Given the description of an element on the screen output the (x, y) to click on. 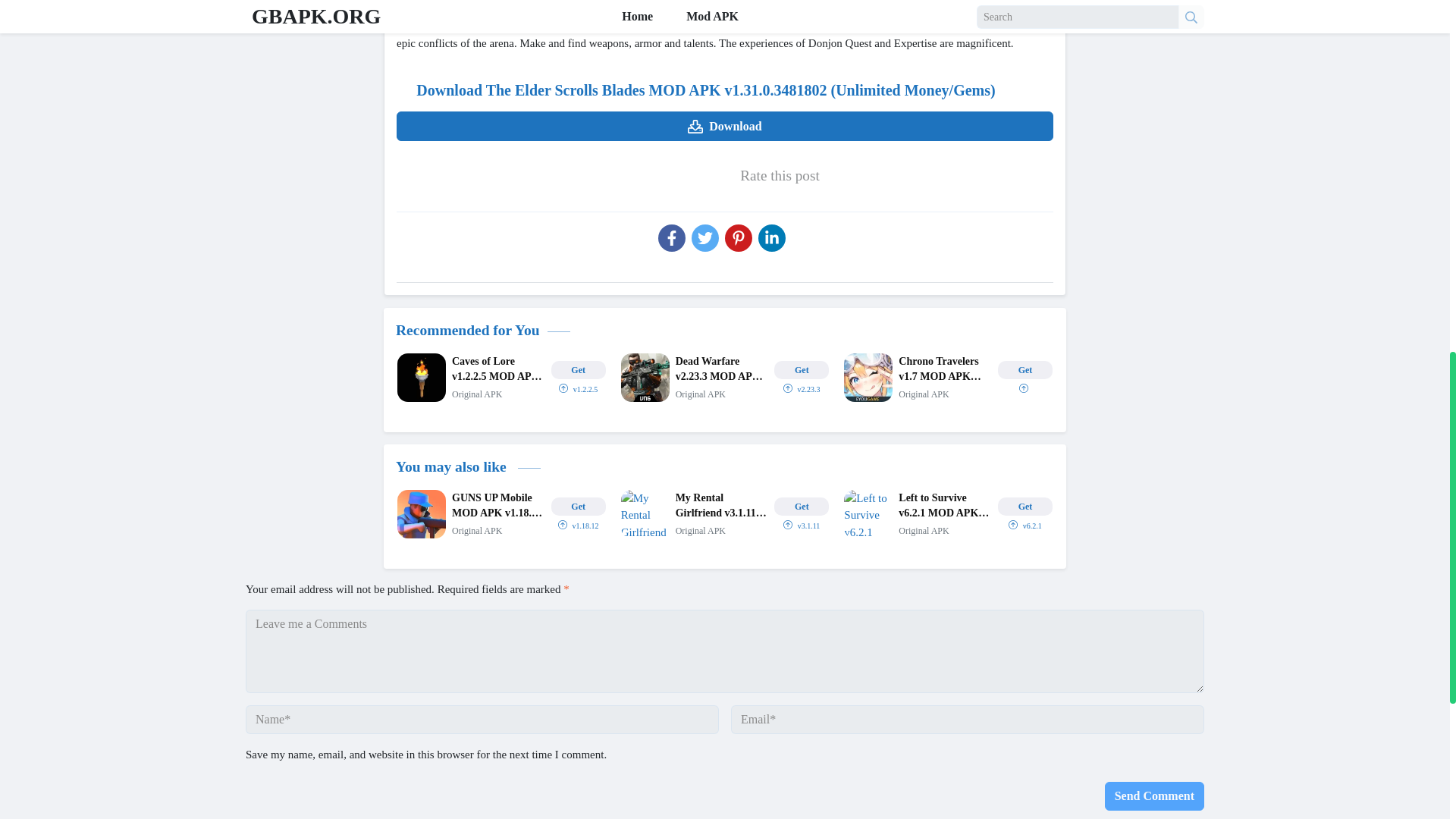
Send Comment (1154, 796)
Send Comment (1154, 796)
Download (724, 125)
